Given the description of an element on the screen output the (x, y) to click on. 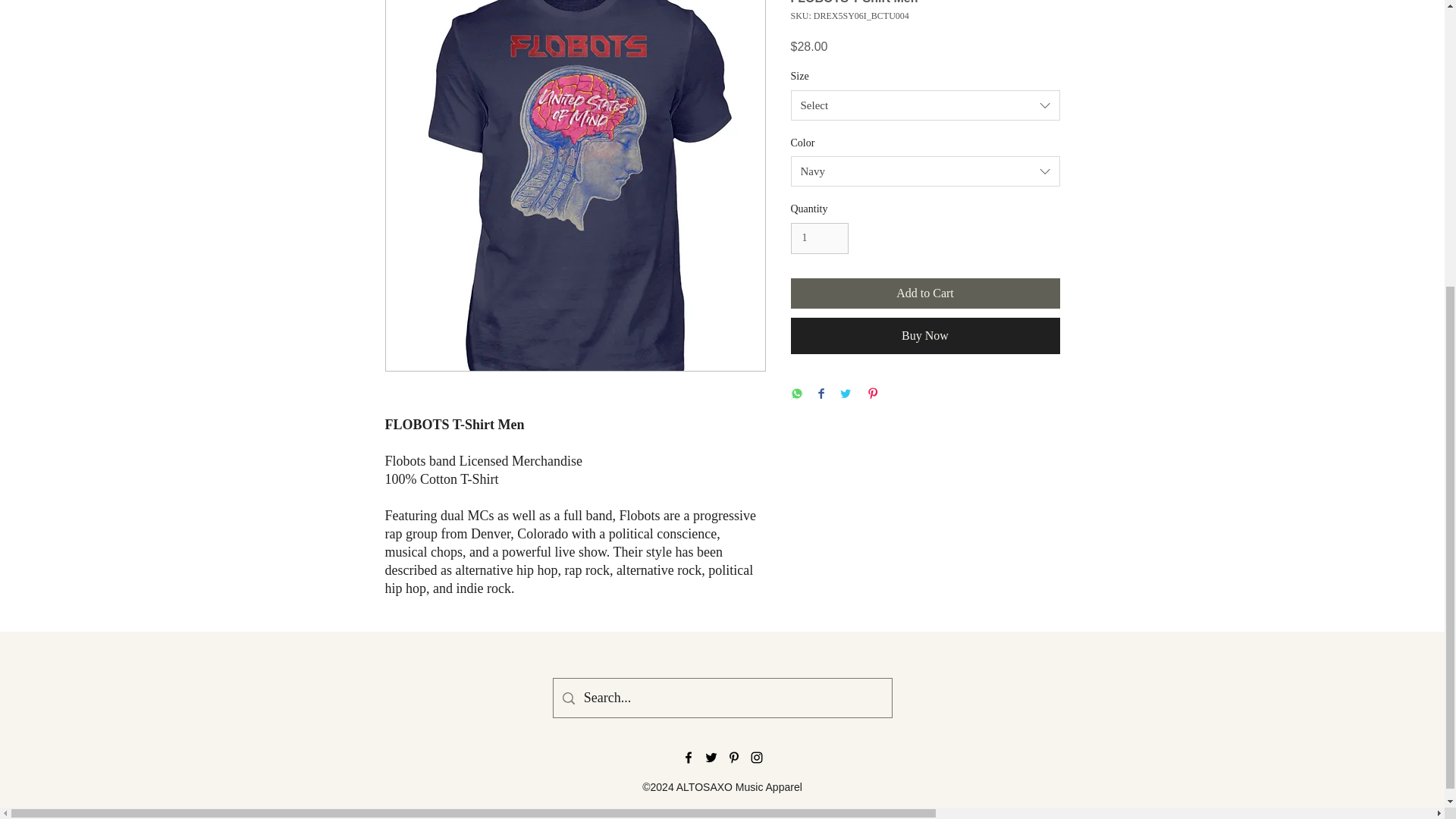
1 (818, 237)
Buy Now (924, 335)
Add to Cart (924, 293)
Navy (924, 171)
Select (924, 105)
